Given the description of an element on the screen output the (x, y) to click on. 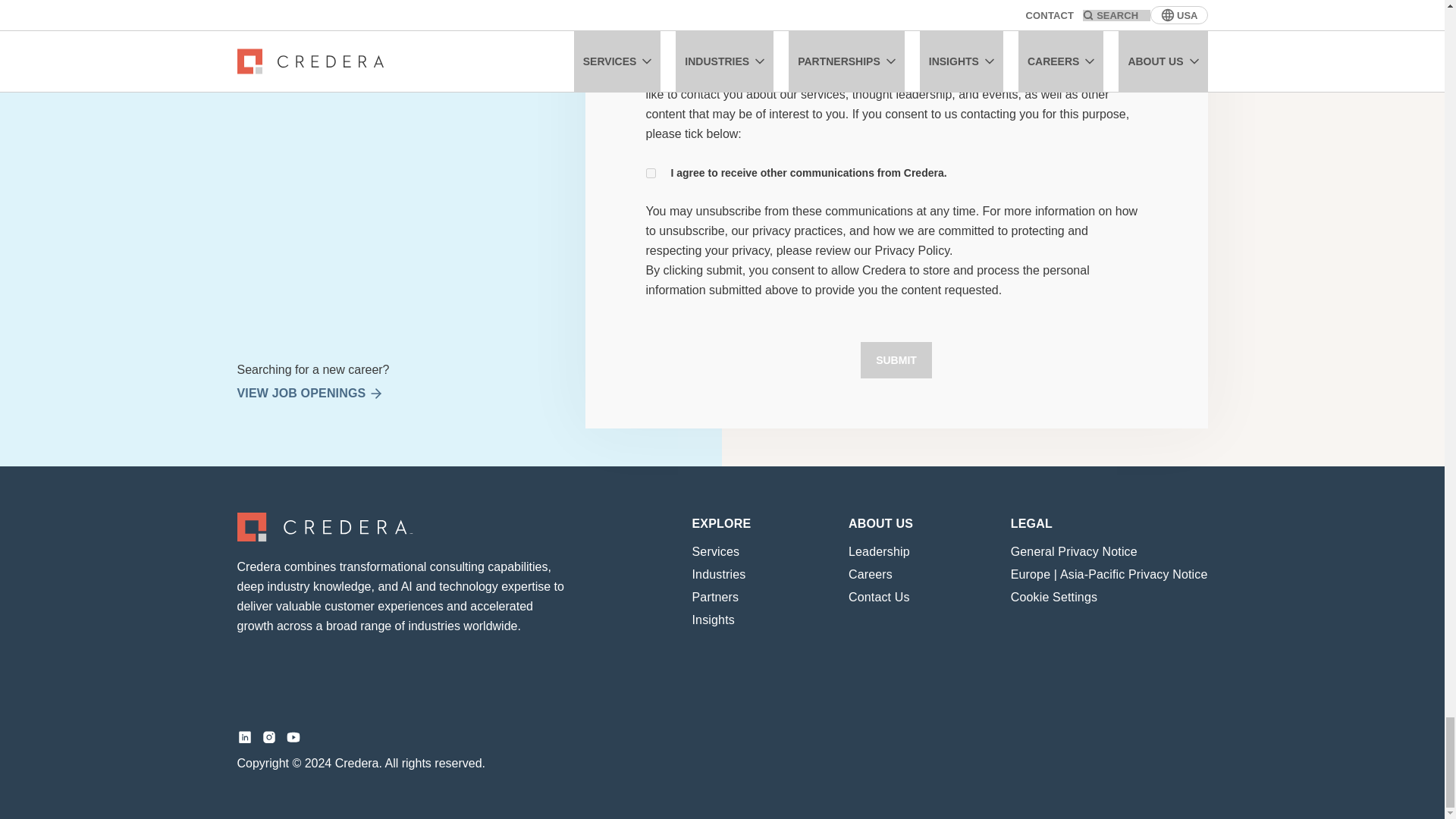
Instagram (268, 736)
LinkedIn (243, 736)
Youtube (292, 736)
VIEW JOB OPENINGS (365, 393)
Submit (895, 360)
TM (324, 526)
true (651, 173)
Submit (895, 360)
